Given the description of an element on the screen output the (x, y) to click on. 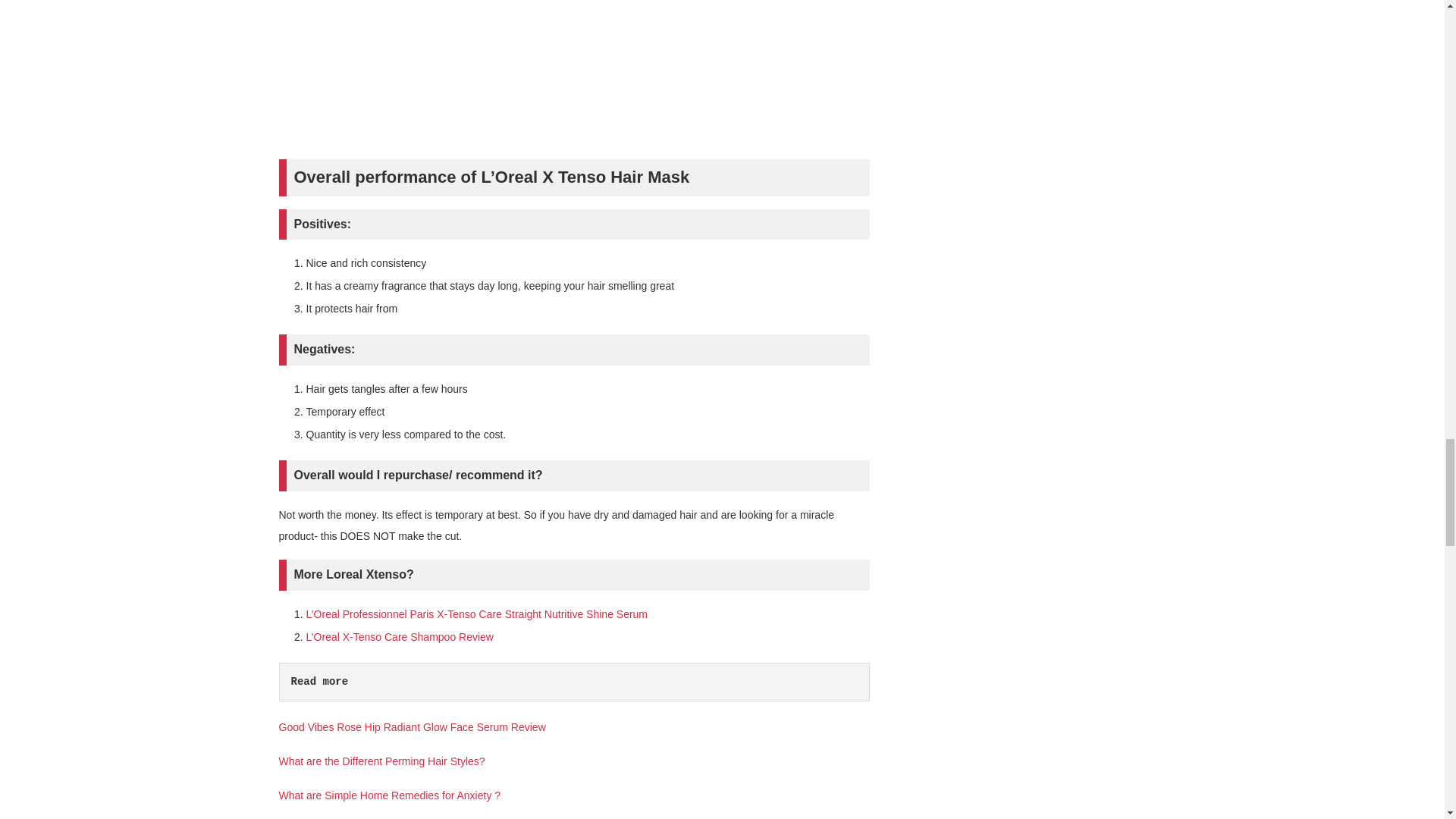
What are Simple Home Remedies for Anxiety ? (389, 795)
Good Vibes Rose Hip Radiant Glow Face Serum Review (412, 727)
What are the Different Perming Hair Styles? (381, 761)
